Given the description of an element on the screen output the (x, y) to click on. 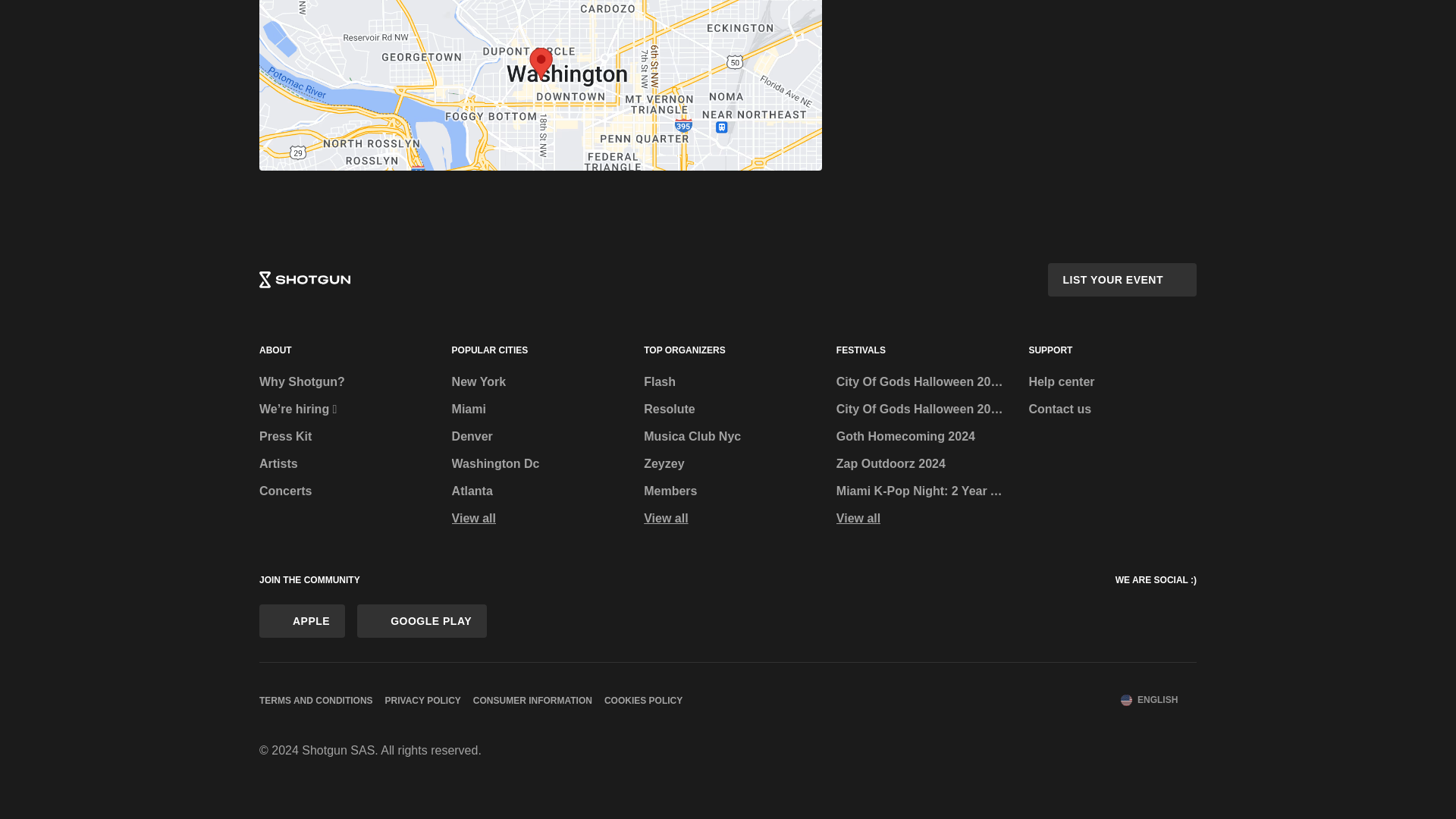
Why Shotgun? (343, 381)
Flash (727, 381)
Atlanta (535, 491)
Musica Club Nyc (727, 436)
Zeyzey (727, 463)
New York (535, 381)
Resolute (727, 409)
View all (727, 518)
Artists (343, 463)
Press Kit (343, 436)
